Given the description of an element on the screen output the (x, y) to click on. 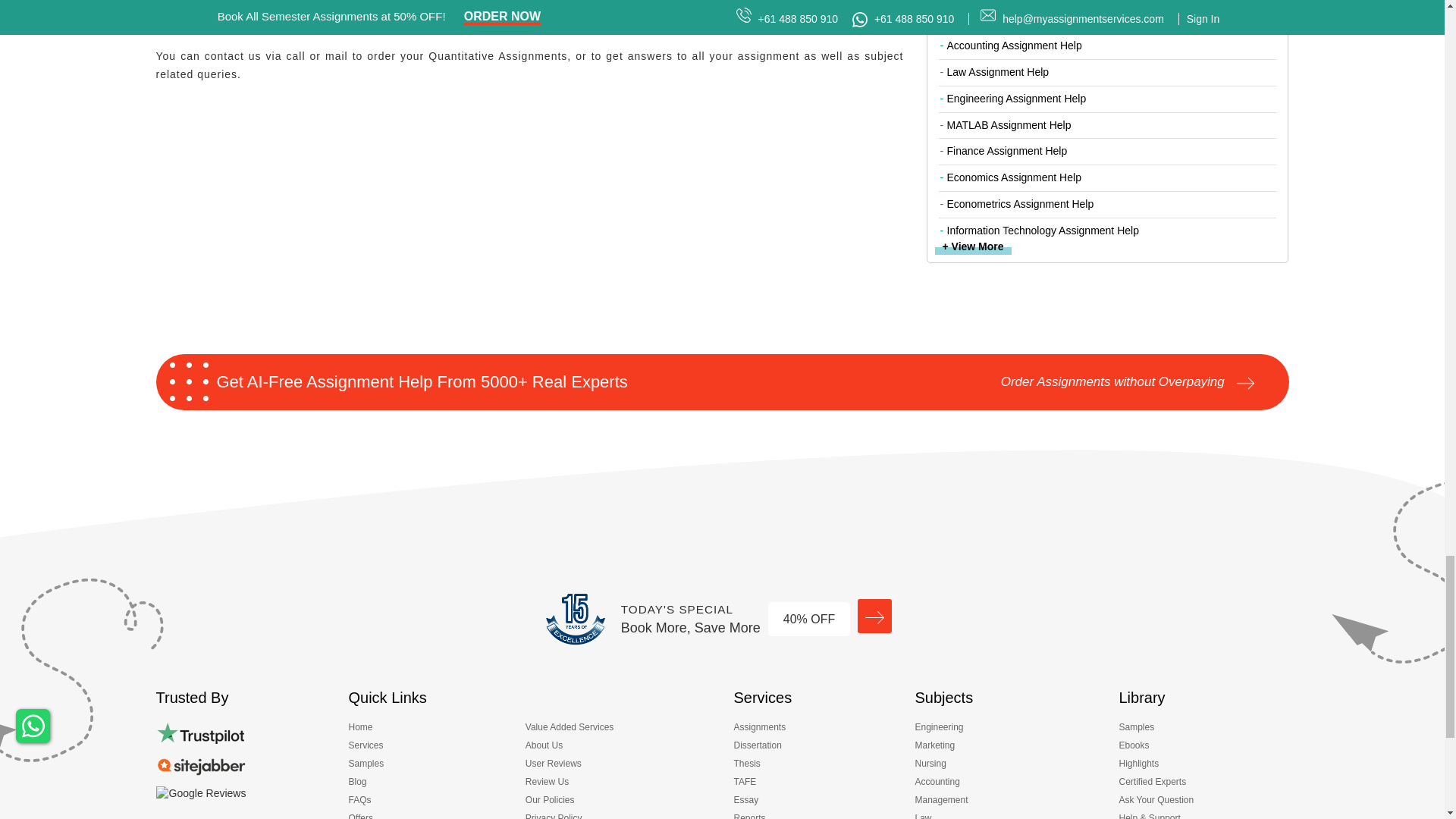
Dissertation Writing Help (761, 747)
